Given the description of an element on the screen output the (x, y) to click on. 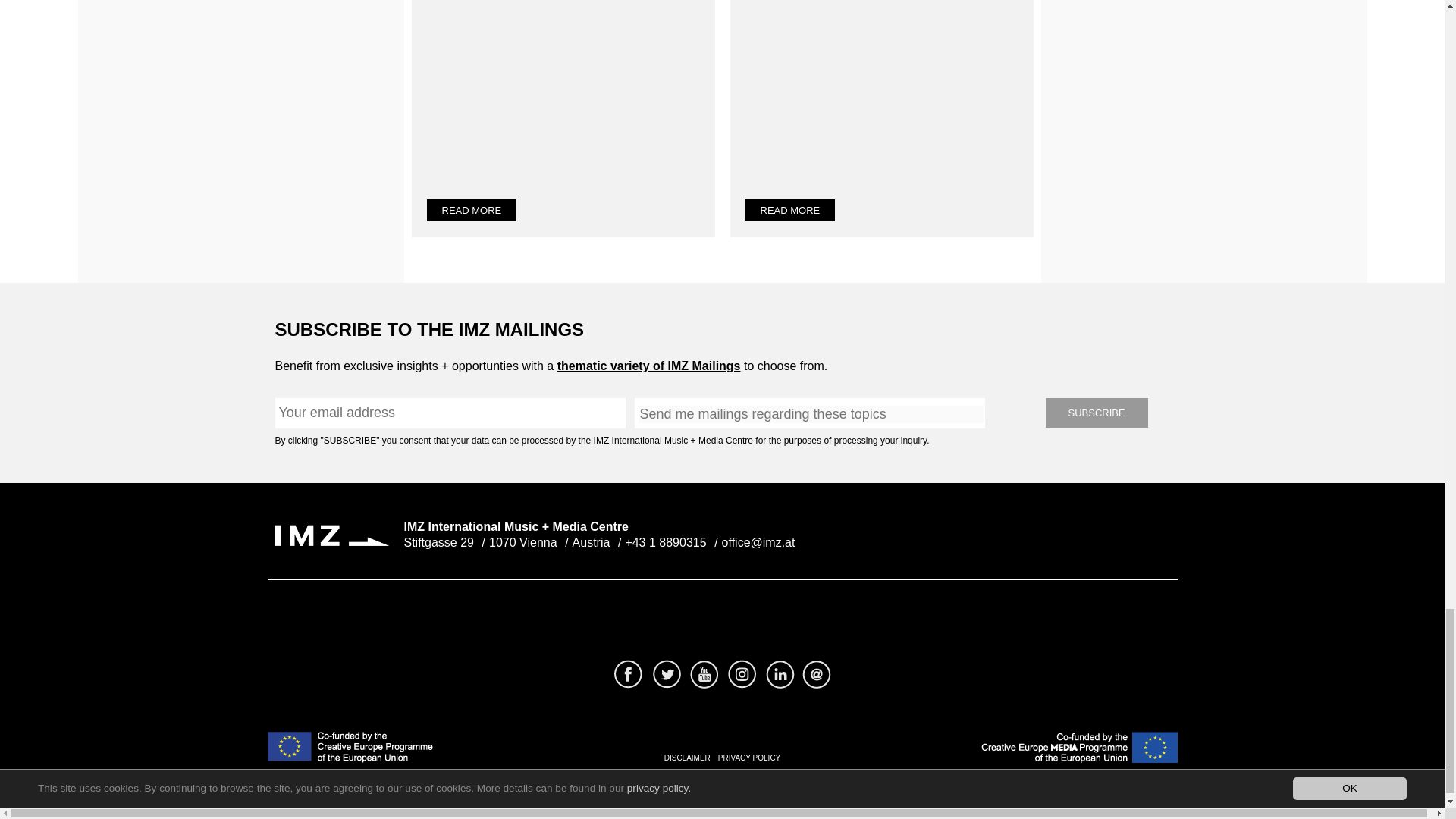
READ MORE (471, 210)
thematic variety of IMZ Mailings (649, 365)
READ MORE (789, 210)
SUBSCRIBE (1096, 412)
SUBSCRIBE (1096, 412)
